Given the description of an element on the screen output the (x, y) to click on. 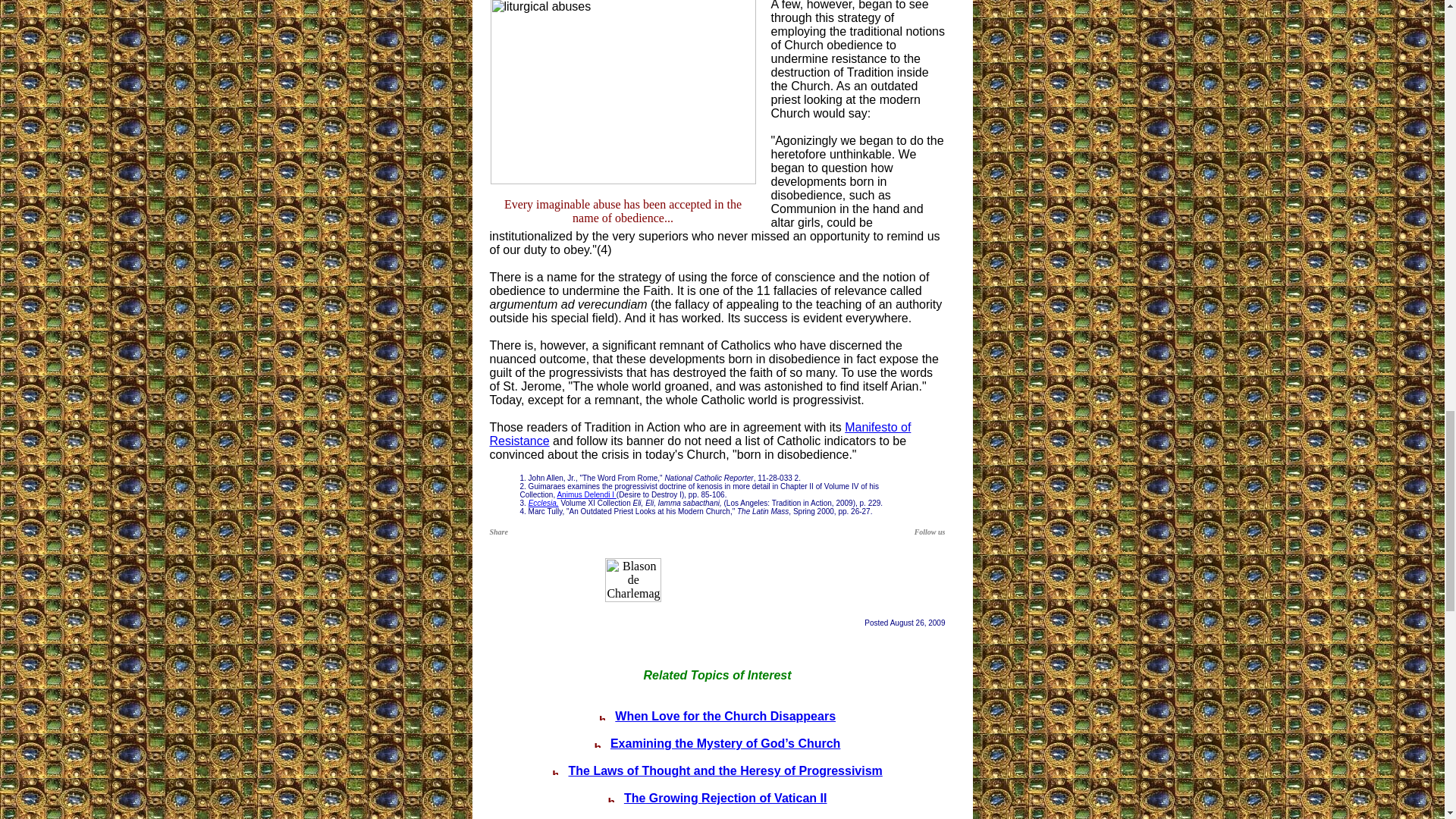
The Growing Rejection of Vatican II (725, 797)
The Laws of Thought and the Heresy of Progressivism (725, 770)
Animus Delendi I (585, 494)
Manifesto of Resistance (700, 433)
Ecclesia, (543, 502)
When Love for the Church Disappears (724, 716)
